Given the description of an element on the screen output the (x, y) to click on. 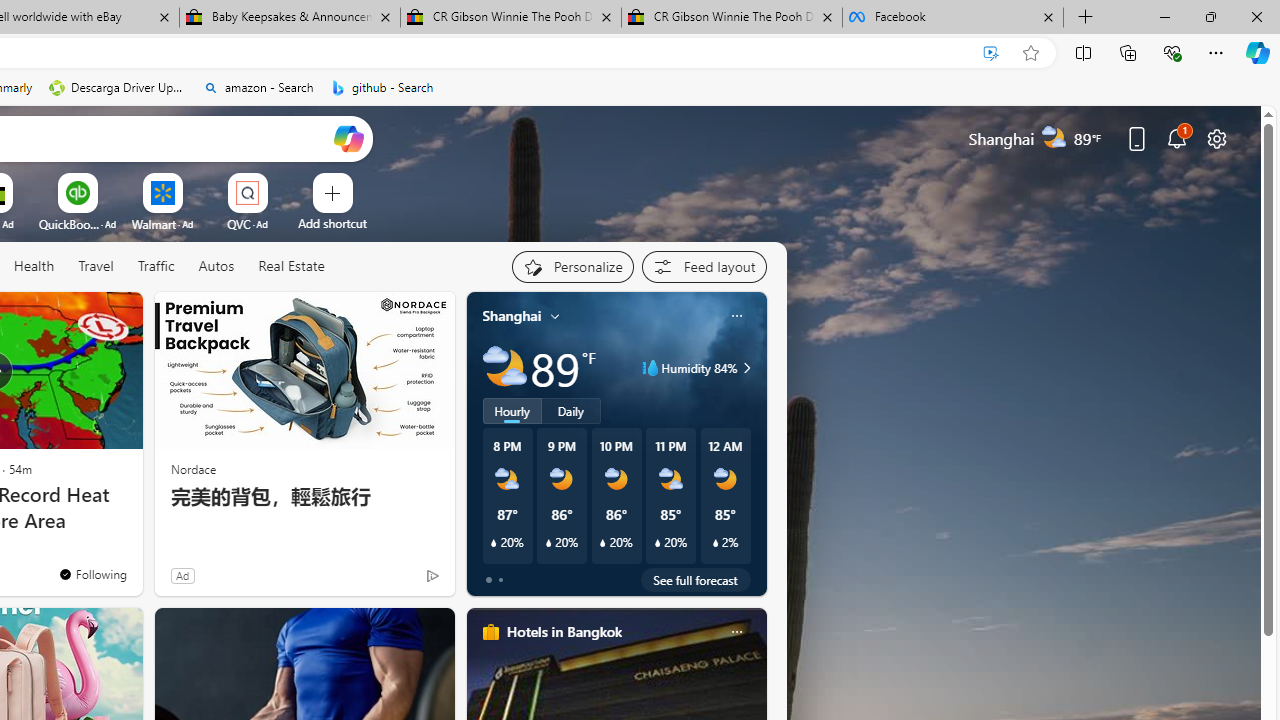
My location (555, 315)
github - Search (381, 88)
Class: weather-arrow-glyph (746, 367)
Enhance video (991, 53)
Autos (216, 267)
Real Estate (290, 267)
Descarga Driver Updater (118, 88)
Personalize your feed" (571, 266)
Partly cloudy (504, 368)
